Given the description of an element on the screen output the (x, y) to click on. 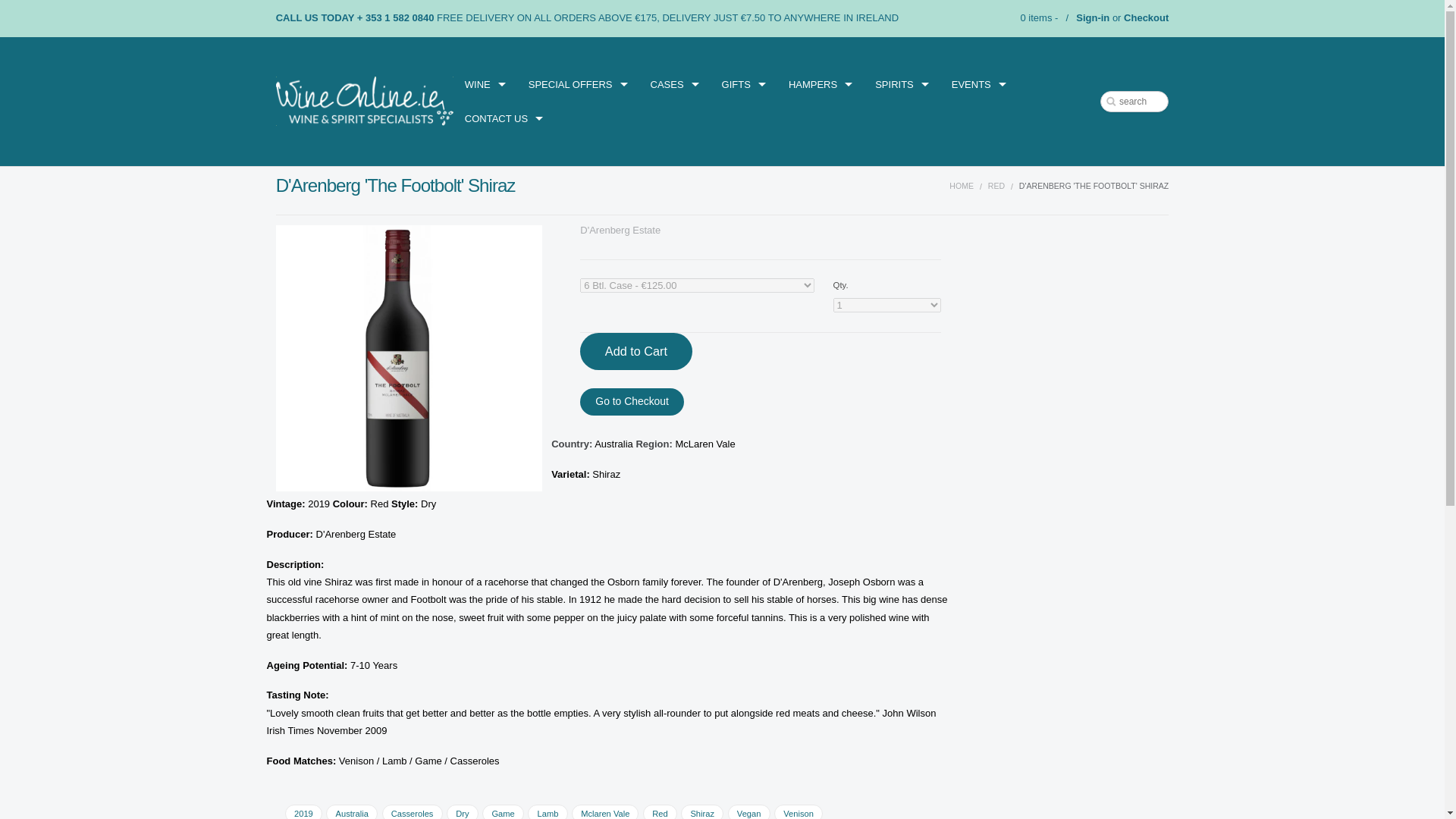
0 items - (1037, 17)
D'Arenberg Estate (620, 229)
D'Arenberg 'The Footbolt' Shiraz (408, 357)
Red (996, 185)
WINE (484, 84)
WineOnline (364, 101)
Sign-in (1092, 17)
Checkout (1146, 17)
